Given the description of an element on the screen output the (x, y) to click on. 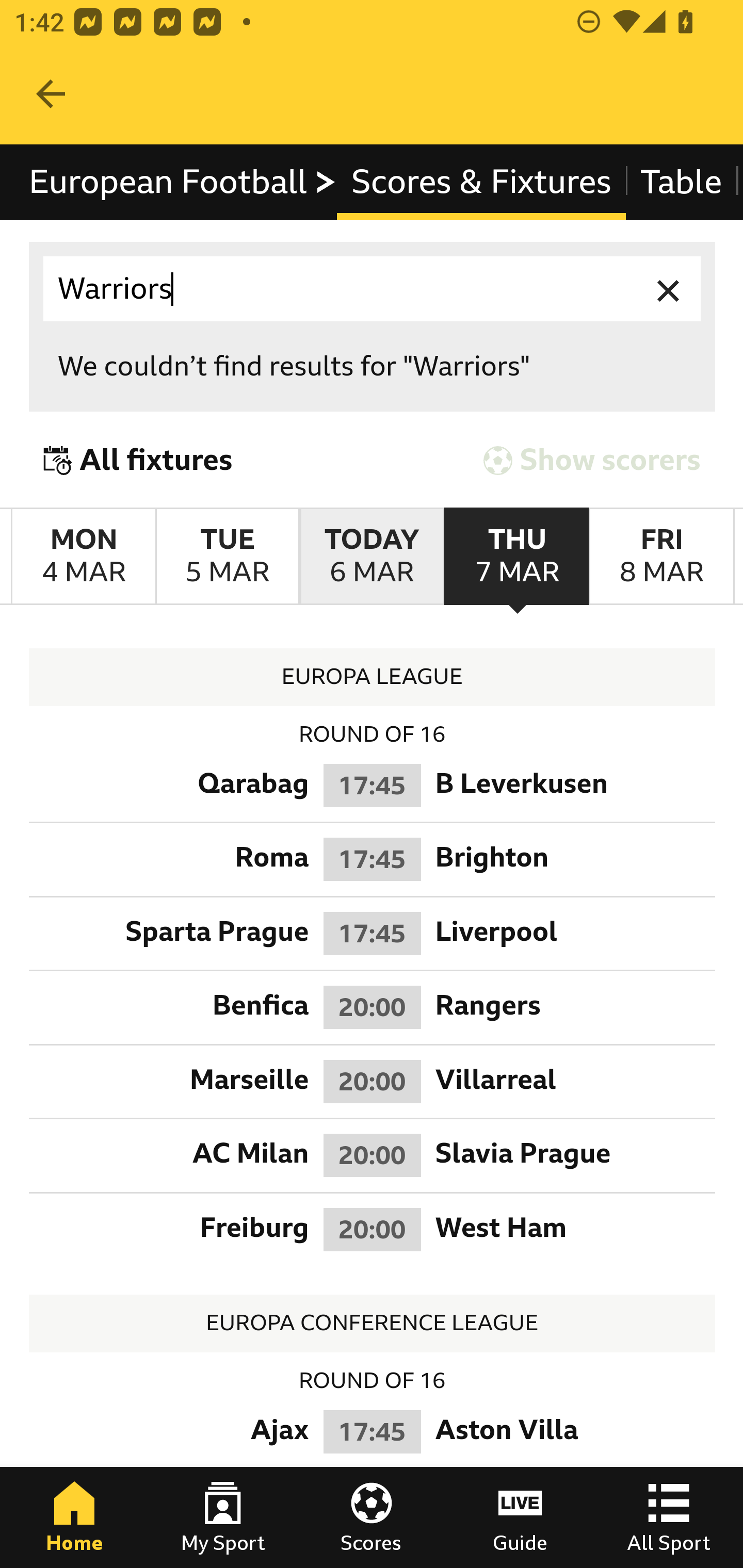
Navigate up (50, 93)
European Football  (182, 181)
Scores & Fixtures (480, 181)
Table (681, 181)
Warriors (372, 289)
Clear input (669, 289)
All fixtures (137, 459)
Show scorers (591, 459)
MondayMarch 4th Monday March 4th (83, 557)
TuesdayMarch 5th Tuesday March 5th (227, 557)
TodayMarch 6th Today March 6th (371, 557)
FridayMarch 8th Friday March 8th (661, 557)
My Sport (222, 1517)
Scores (371, 1517)
Guide (519, 1517)
All Sport (668, 1517)
